Given the description of an element on the screen output the (x, y) to click on. 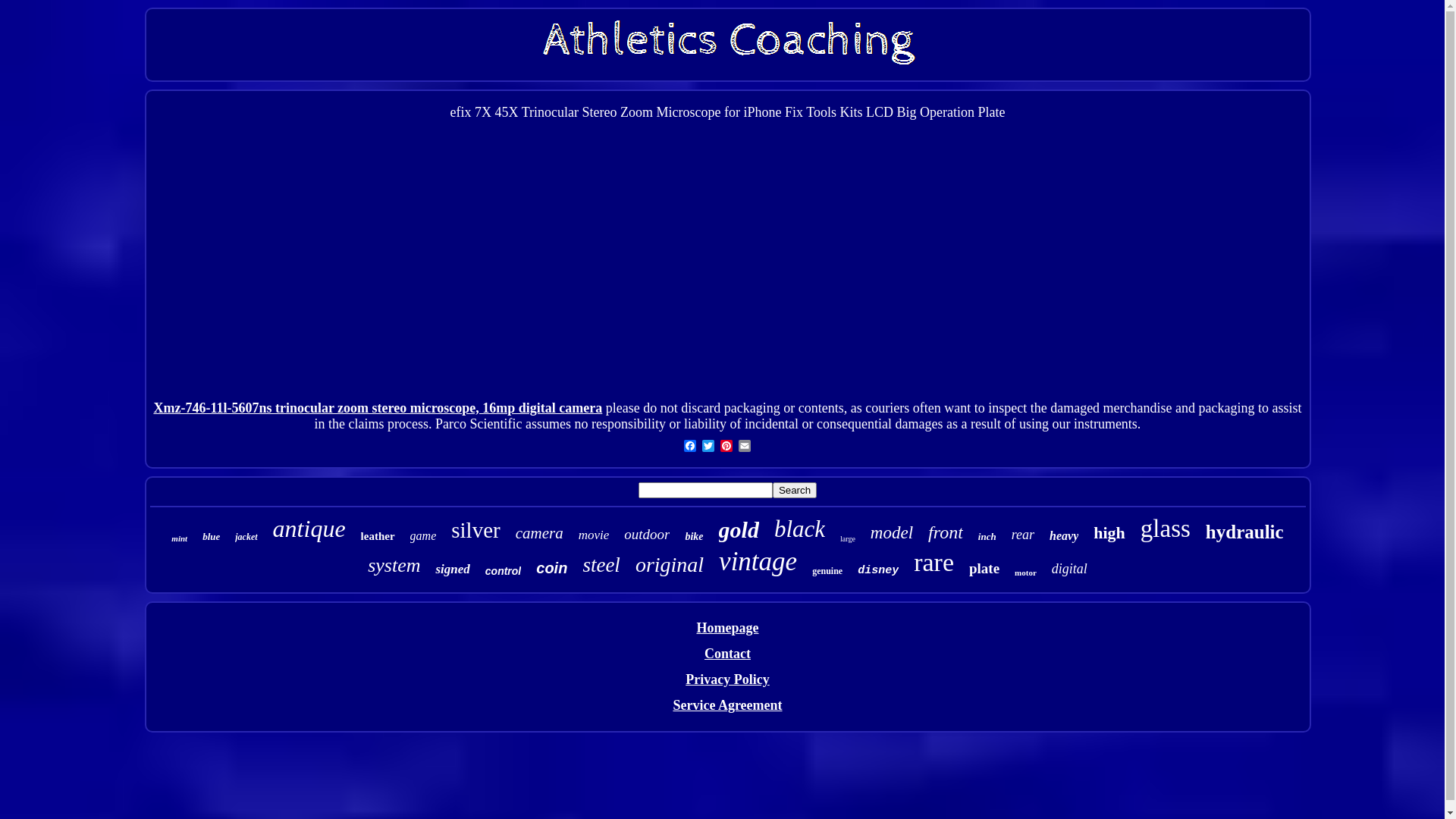
blue Element type: text (210, 536)
digital Element type: text (1069, 569)
Service Agreement Element type: text (726, 704)
inch Element type: text (987, 536)
motor Element type: text (1025, 572)
rare Element type: text (933, 562)
jacket Element type: text (246, 536)
glass Element type: text (1165, 528)
black Element type: text (799, 528)
steel Element type: text (600, 565)
rear Element type: text (1022, 534)
hydraulic Element type: text (1244, 531)
Homepage Element type: text (727, 627)
coin Element type: text (551, 568)
disney Element type: text (877, 570)
Contact Element type: text (727, 653)
silver Element type: text (475, 529)
original Element type: text (669, 564)
movie Element type: text (593, 534)
control Element type: text (502, 570)
bike Element type: text (693, 536)
genuine Element type: text (827, 571)
model Element type: text (891, 532)
high Element type: text (1109, 532)
mint Element type: text (179, 537)
leather Element type: text (377, 536)
front Element type: text (945, 532)
plate Element type: text (984, 568)
outdoor Element type: text (646, 534)
game Element type: text (423, 535)
heavy Element type: text (1063, 535)
camera Element type: text (539, 533)
vintage Element type: text (757, 561)
signed Element type: text (452, 569)
antique Element type: text (309, 528)
gold Element type: text (738, 529)
Search Element type: text (794, 490)
large Element type: text (847, 538)
Privacy Policy Element type: text (726, 679)
system Element type: text (393, 565)
